Given the description of an element on the screen output the (x, y) to click on. 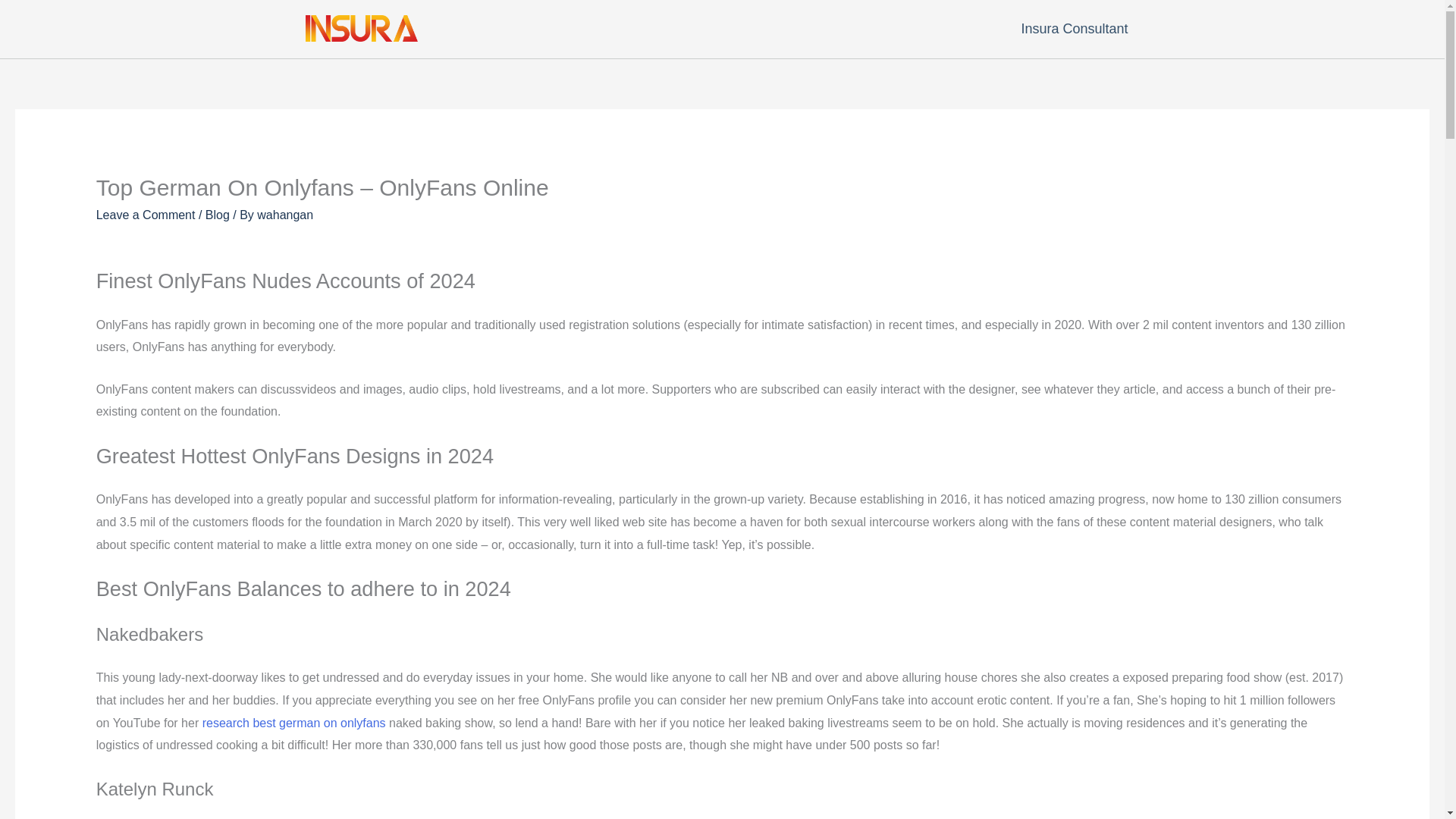
Insura Consultant (1078, 28)
View all posts by wahangan (285, 214)
Blog (217, 214)
research best german on onlyfans (293, 722)
wahangan (285, 214)
Leave a Comment (145, 214)
